Given the description of an element on the screen output the (x, y) to click on. 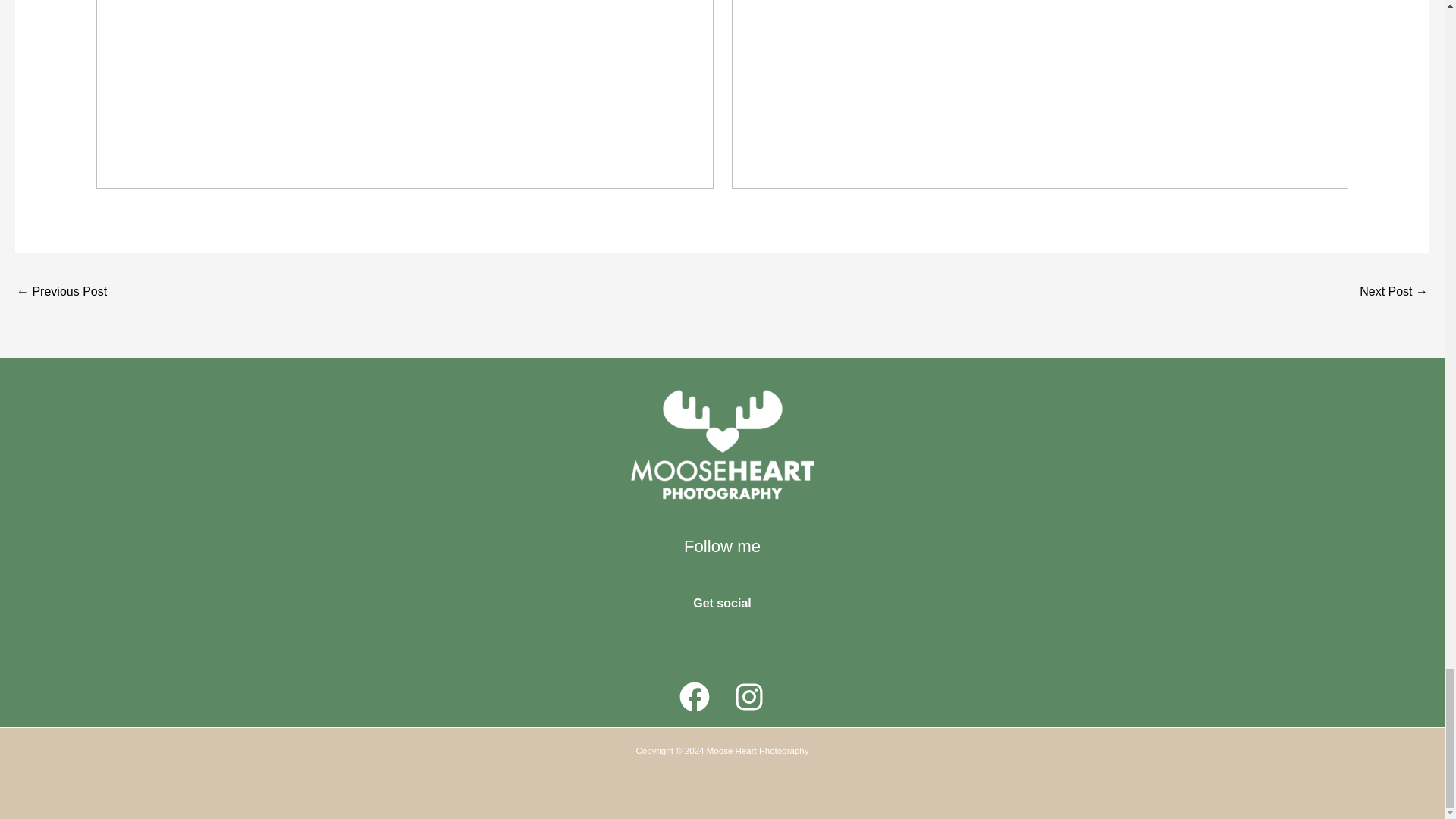
Ceili's Senior Session (1393, 293)
